Given the description of an element on the screen output the (x, y) to click on. 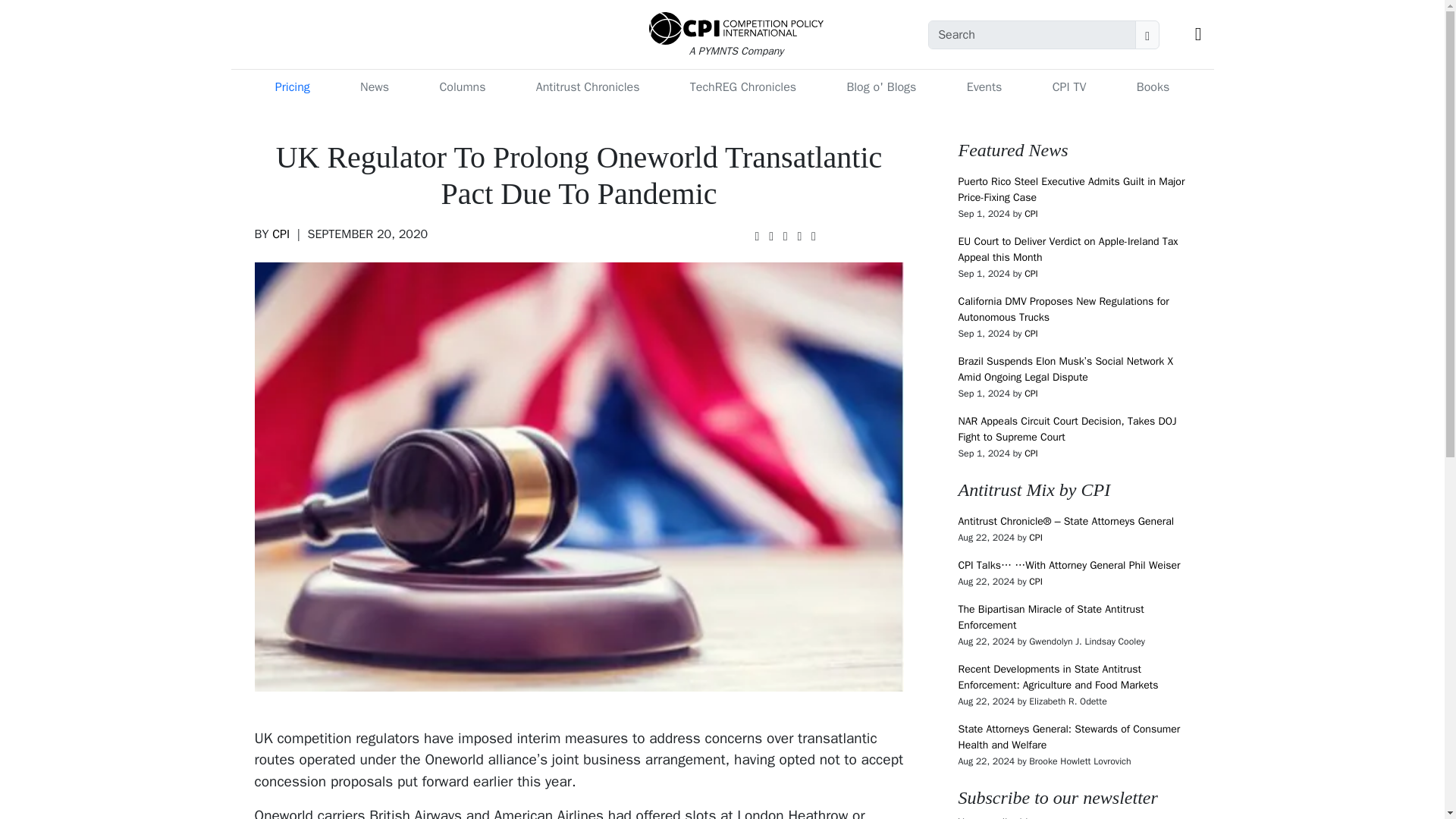
Antitrust Chronicles (587, 87)
Blog o' Blogs (880, 87)
Posts by CPI (280, 233)
CPI (1035, 581)
Pricing (292, 87)
News (373, 87)
Posts by CPI (1031, 333)
CPI (1035, 537)
CPI TV (1069, 87)
